Given the description of an element on the screen output the (x, y) to click on. 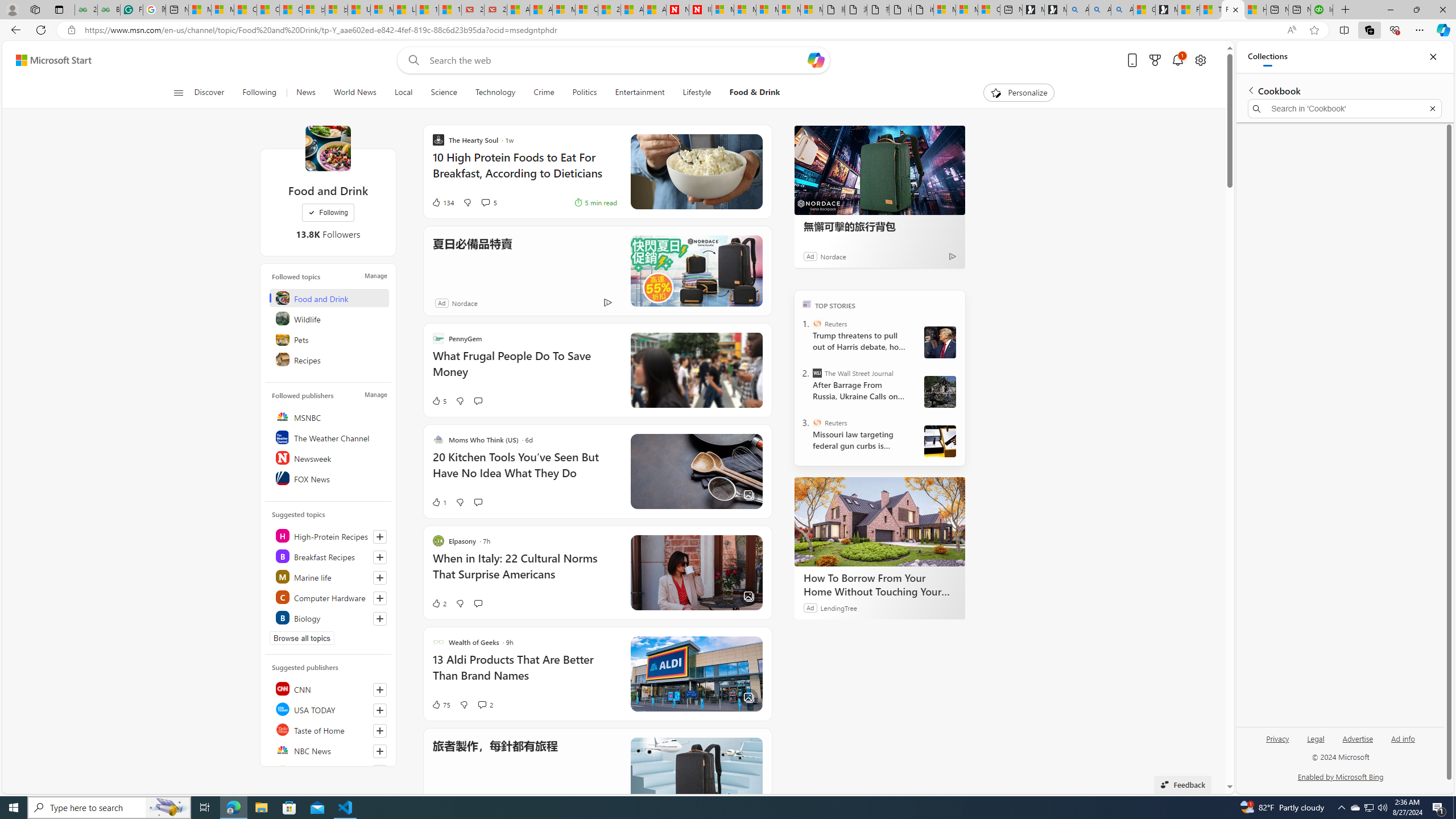
Local (403, 92)
Best SSL Certificates Provider in India - GeeksforGeeks (109, 9)
Cloud Computing Services | Microsoft Azure (586, 9)
Feedback (1182, 784)
Personal Profile (12, 9)
itconcepthk.com/projector_solutions.mp4 (923, 9)
Refresh (40, 29)
Microsoft account | Privacy (966, 9)
Reuters (328, 770)
75 Like (440, 704)
Exit search (1432, 108)
